Given the description of an element on the screen output the (x, y) to click on. 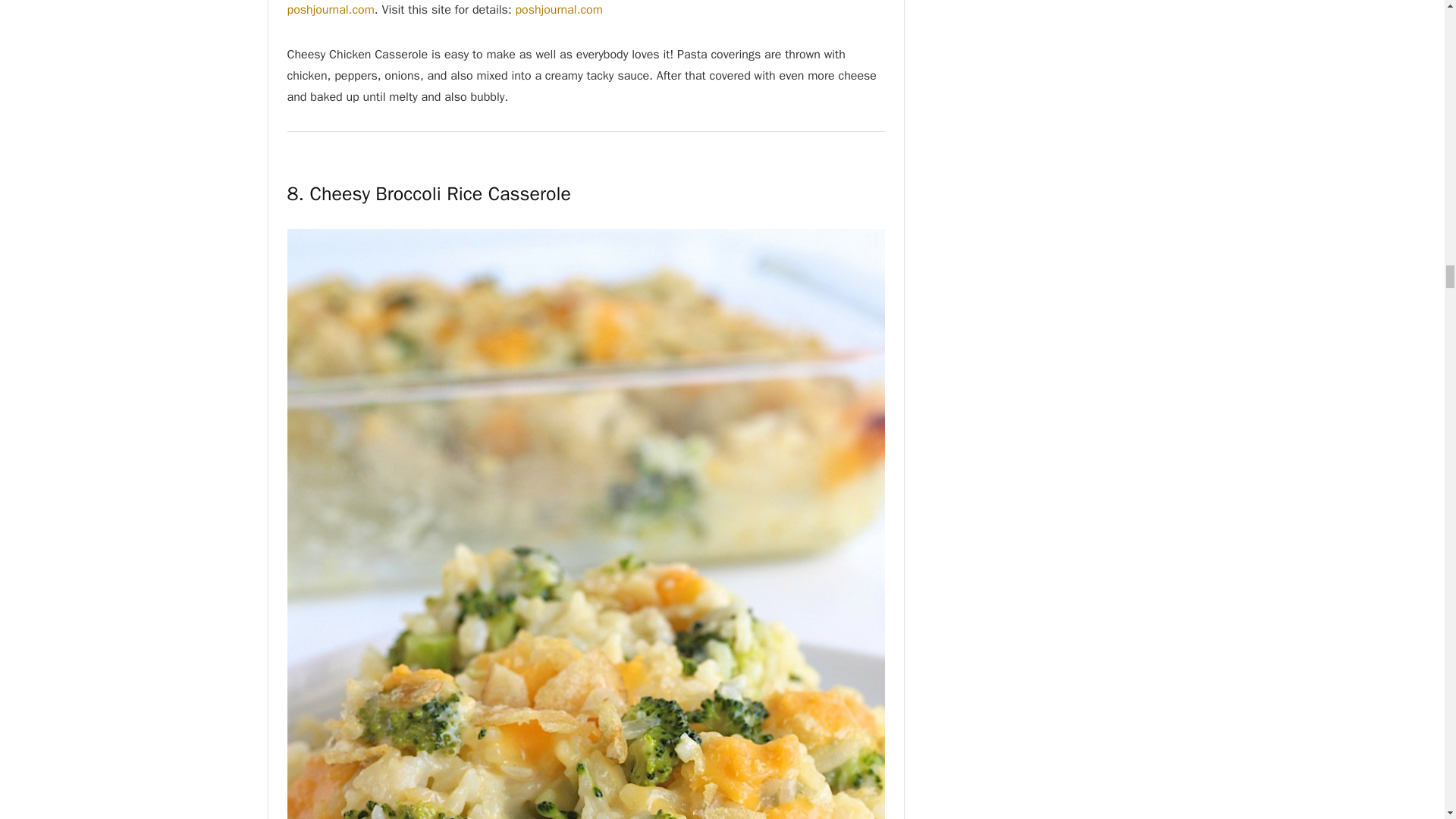
poshjournal.com (330, 9)
poshjournal.com (558, 9)
